Given the description of an element on the screen output the (x, y) to click on. 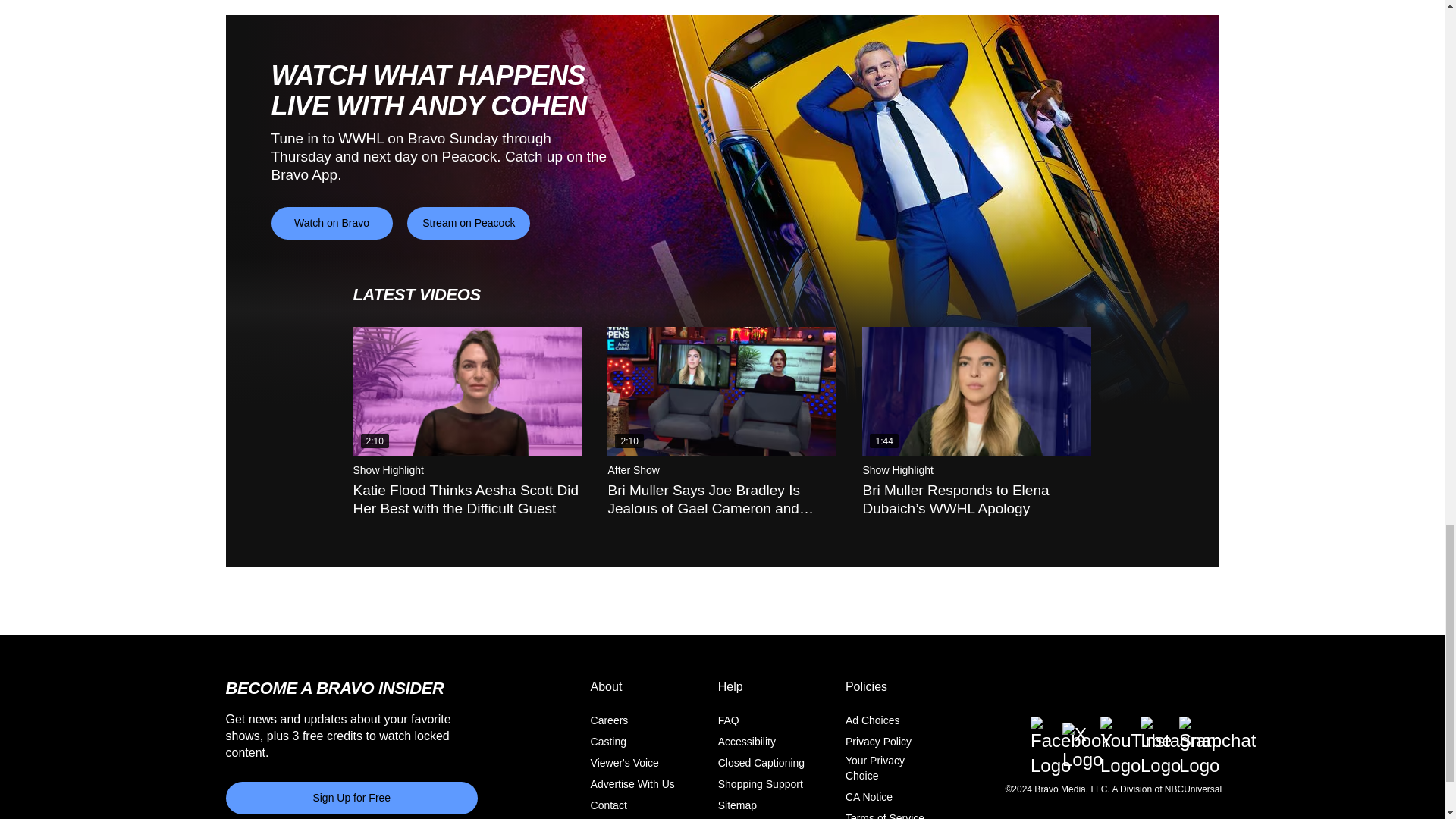
Advertise With Us (633, 784)
